Given the description of an element on the screen output the (x, y) to click on. 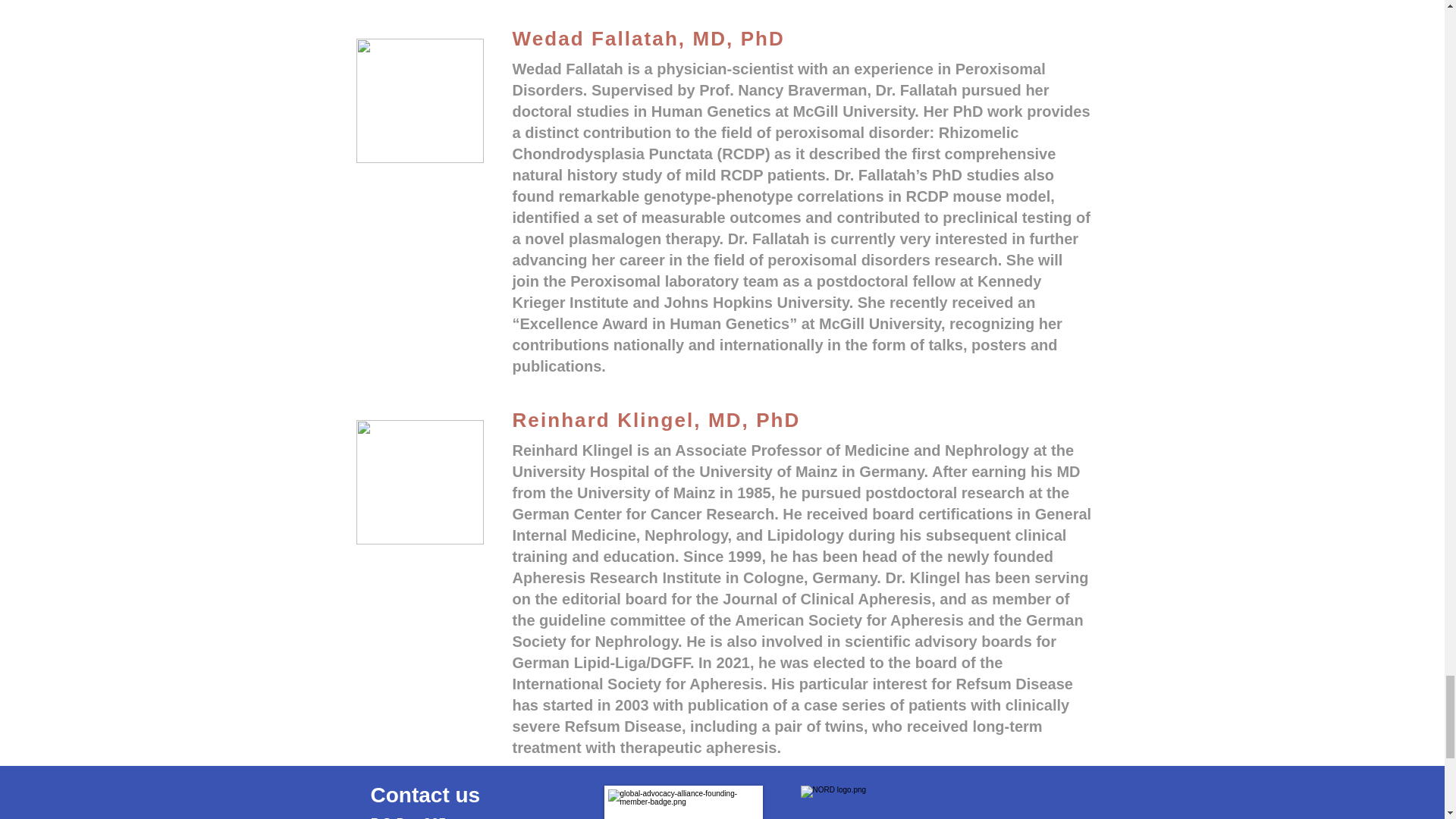
R. Klingel.jpg (419, 482)
